Given the description of an element on the screen output the (x, y) to click on. 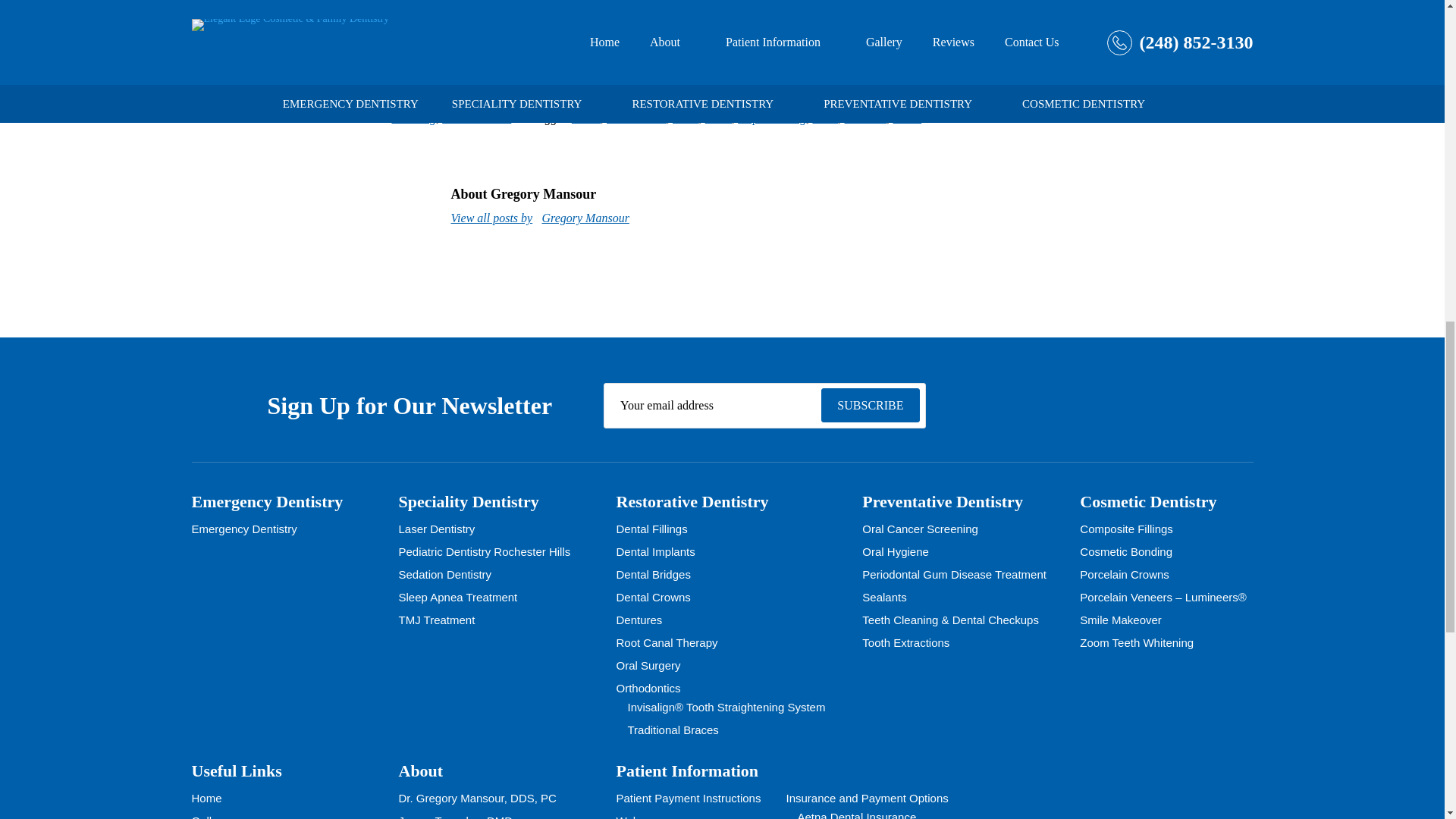
Follow on Instagram (1072, 403)
Follow on X (1026, 404)
Follow on LinkedIn (1162, 403)
SUBSCRIBE (870, 405)
